Given the description of an element on the screen output the (x, y) to click on. 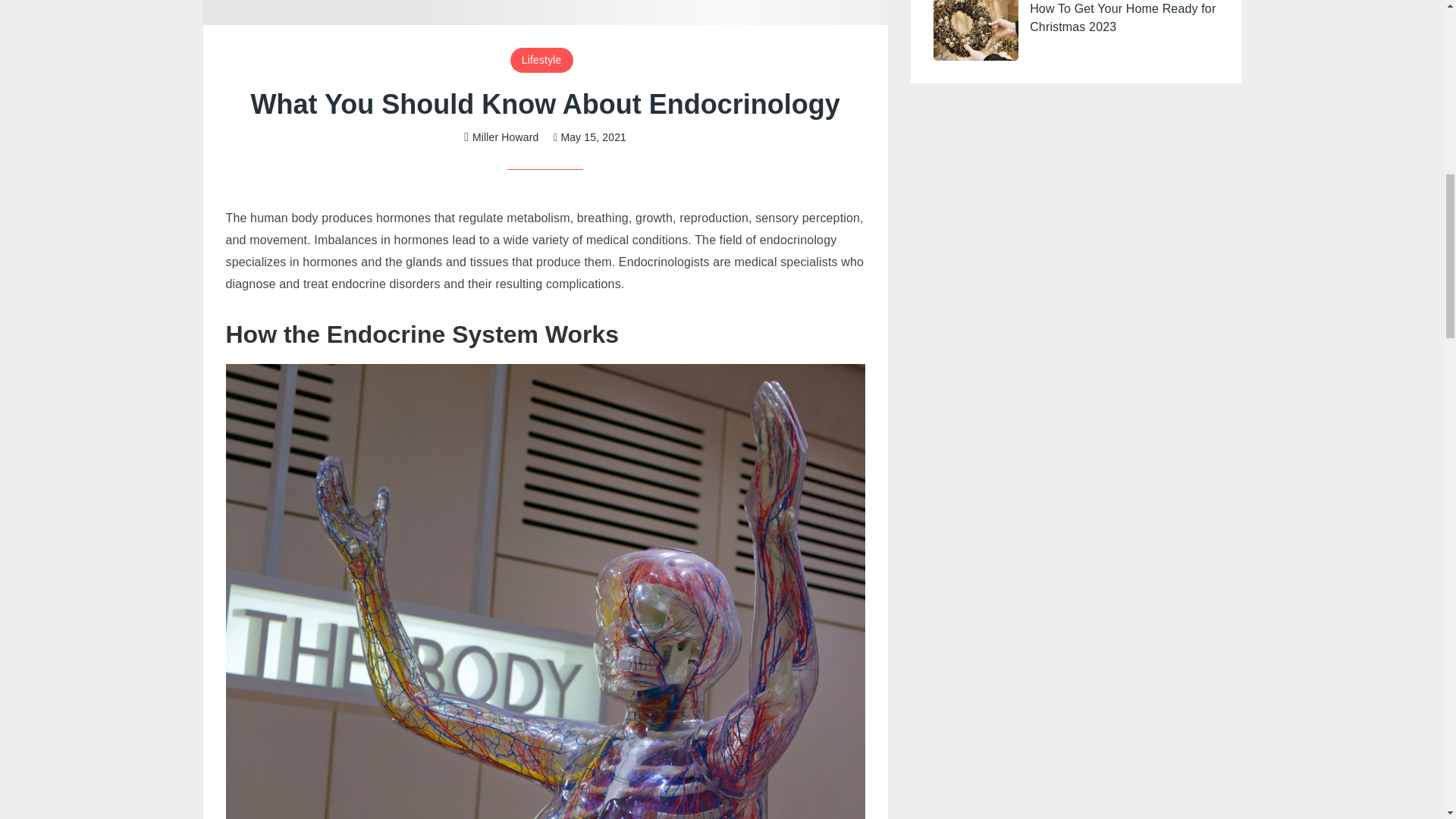
Miller Howard (501, 136)
Lifestyle (542, 59)
May 15, 2021 (589, 137)
How To Get Your Home Ready for Christmas 2023 (1122, 19)
